Given the description of an element on the screen output the (x, y) to click on. 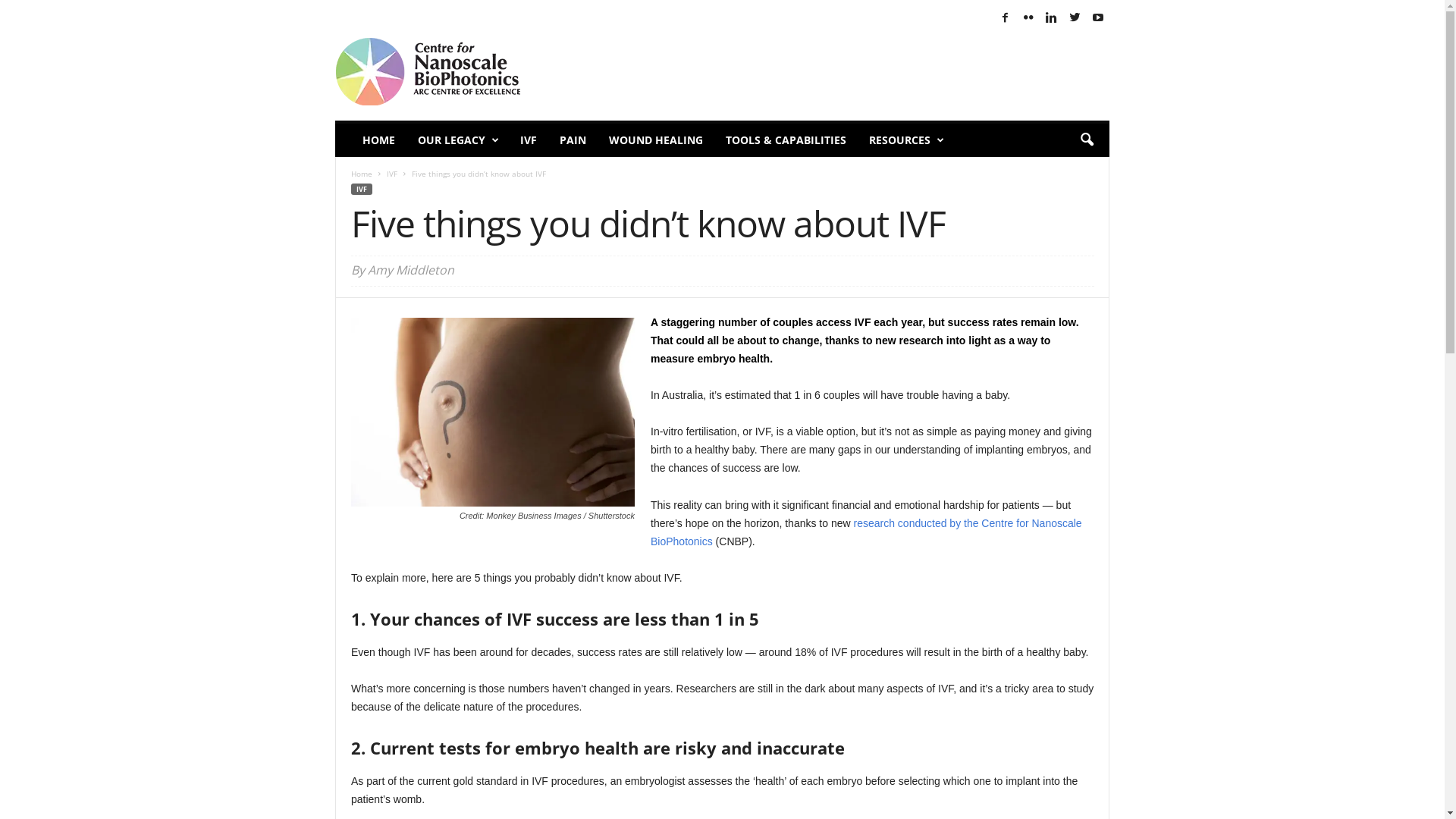
IVF Element type: text (391, 173)
PAIN Element type: text (572, 139)
research conducted by the Centre for Nanoscale BioPhotonics Element type: text (866, 532)
OUR LEGACY Element type: text (457, 139)
Flickr Element type: hover (1028, 18)
Home Element type: text (361, 173)
Linkedin Element type: hover (1051, 18)
HOME Element type: text (378, 139)
Facebook Element type: hover (1005, 18)
IVF Element type: text (528, 139)
IVF Element type: text (361, 188)
RESOURCES Element type: text (905, 139)
Twitter Element type: hover (1074, 18)
WOUND HEALING Element type: text (655, 139)
CNBP Element type: text (438, 71)
TOOLS & CAPABILITIES Element type: text (785, 139)
Youtube Element type: hover (1097, 18)
